Given the description of an element on the screen output the (x, y) to click on. 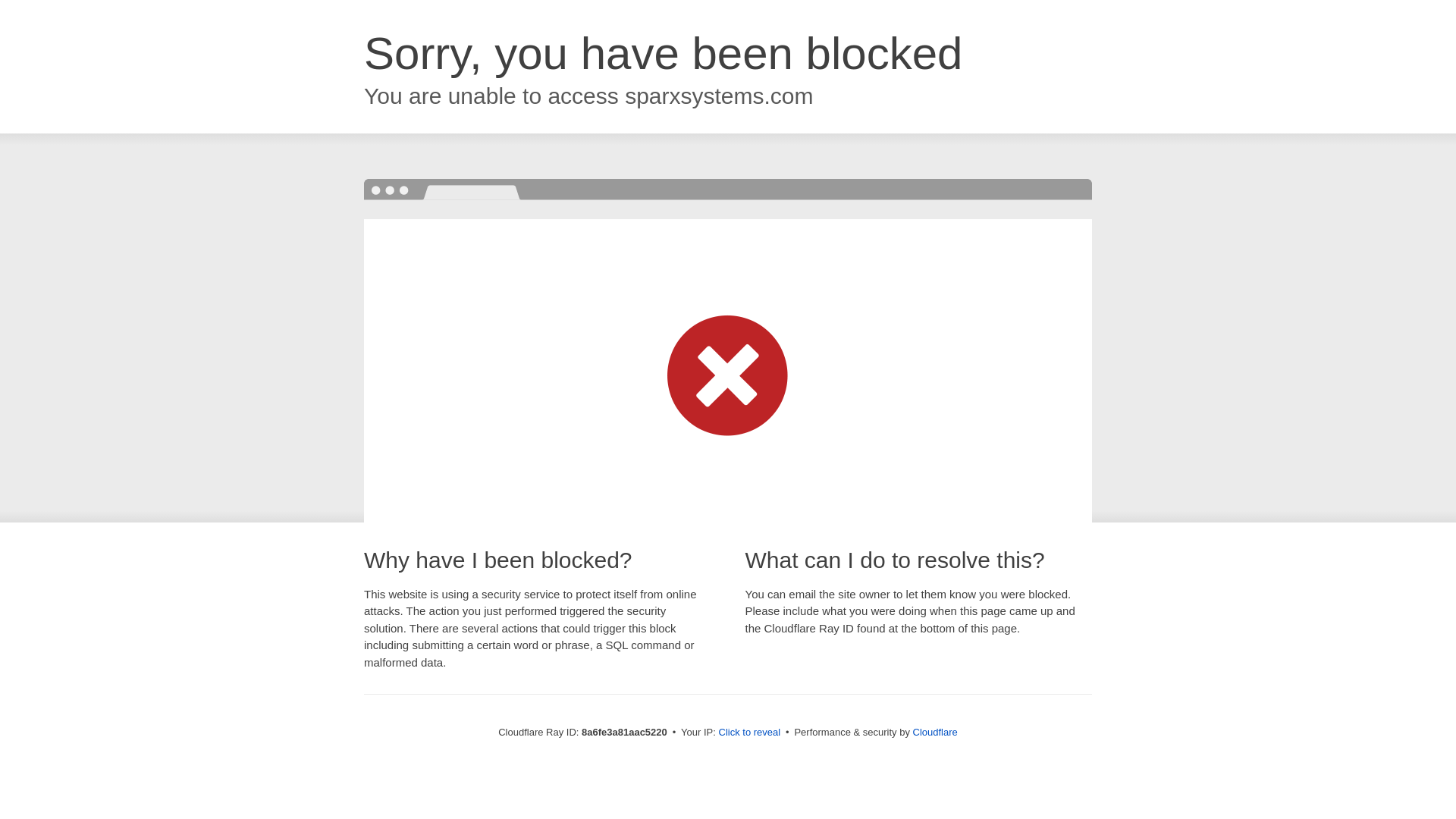
Cloudflare (935, 731)
Click to reveal (749, 732)
